Given the description of an element on the screen output the (x, y) to click on. 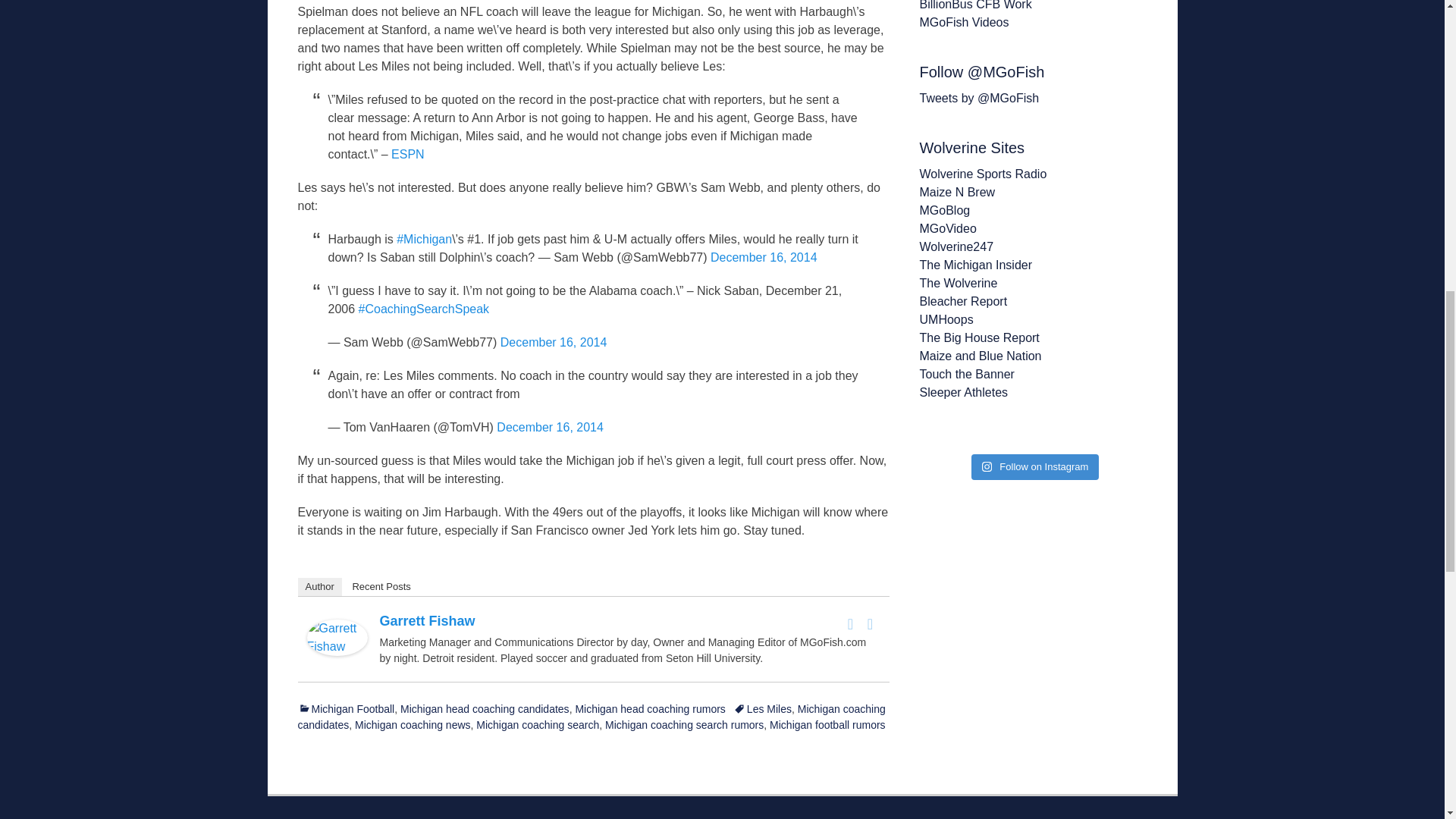
Author (318, 587)
ESPN (408, 154)
Garrett Fishaw (426, 620)
Facebook (850, 624)
December 16, 2014 (550, 427)
December 16, 2014 (763, 256)
Twitter (870, 624)
Recent Posts (380, 587)
December 16, 2014 (553, 341)
Garrett Fishaw (335, 651)
